Given the description of an element on the screen output the (x, y) to click on. 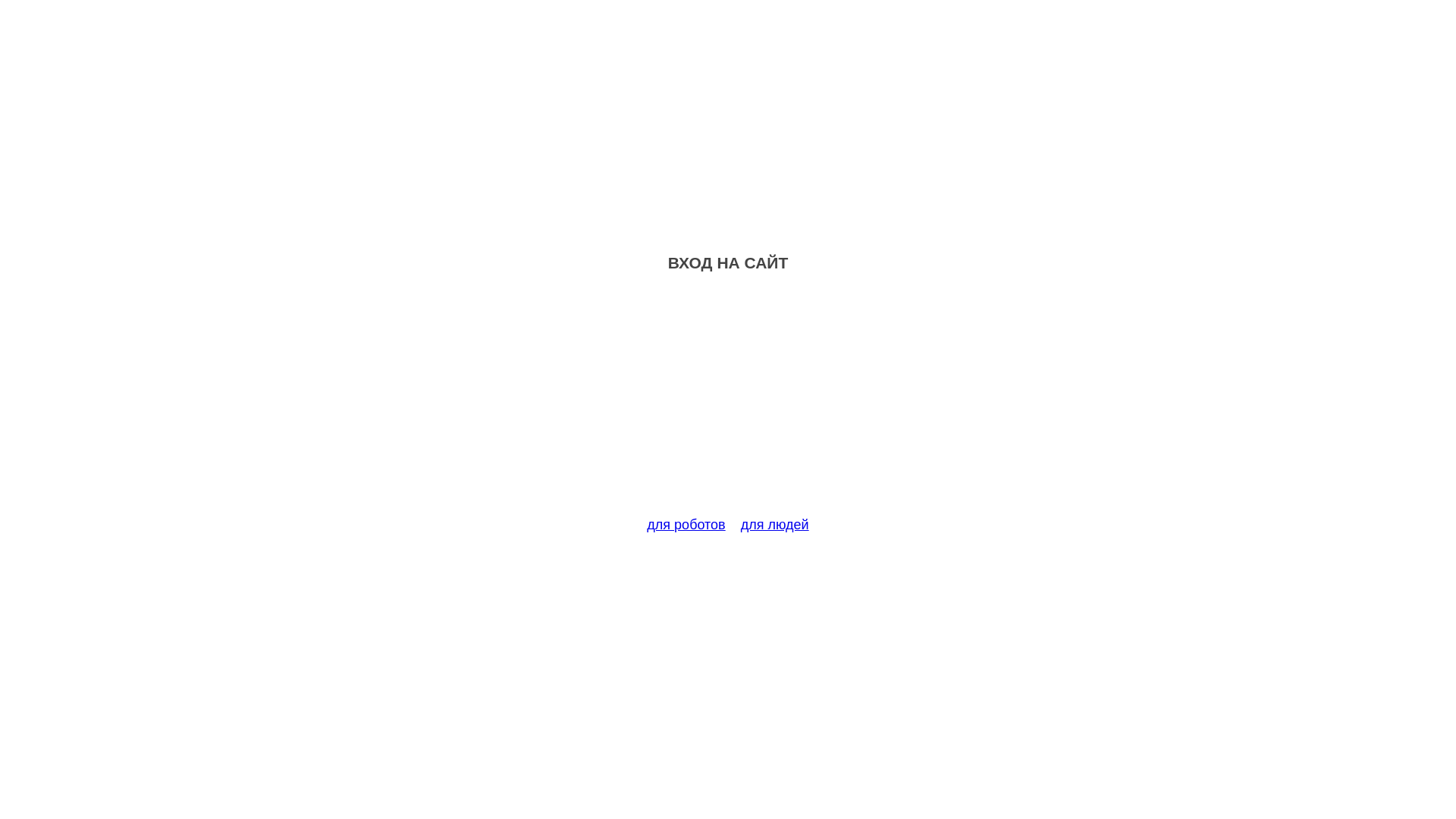
Advertisement Element type: hover (727, 403)
